Given the description of an element on the screen output the (x, y) to click on. 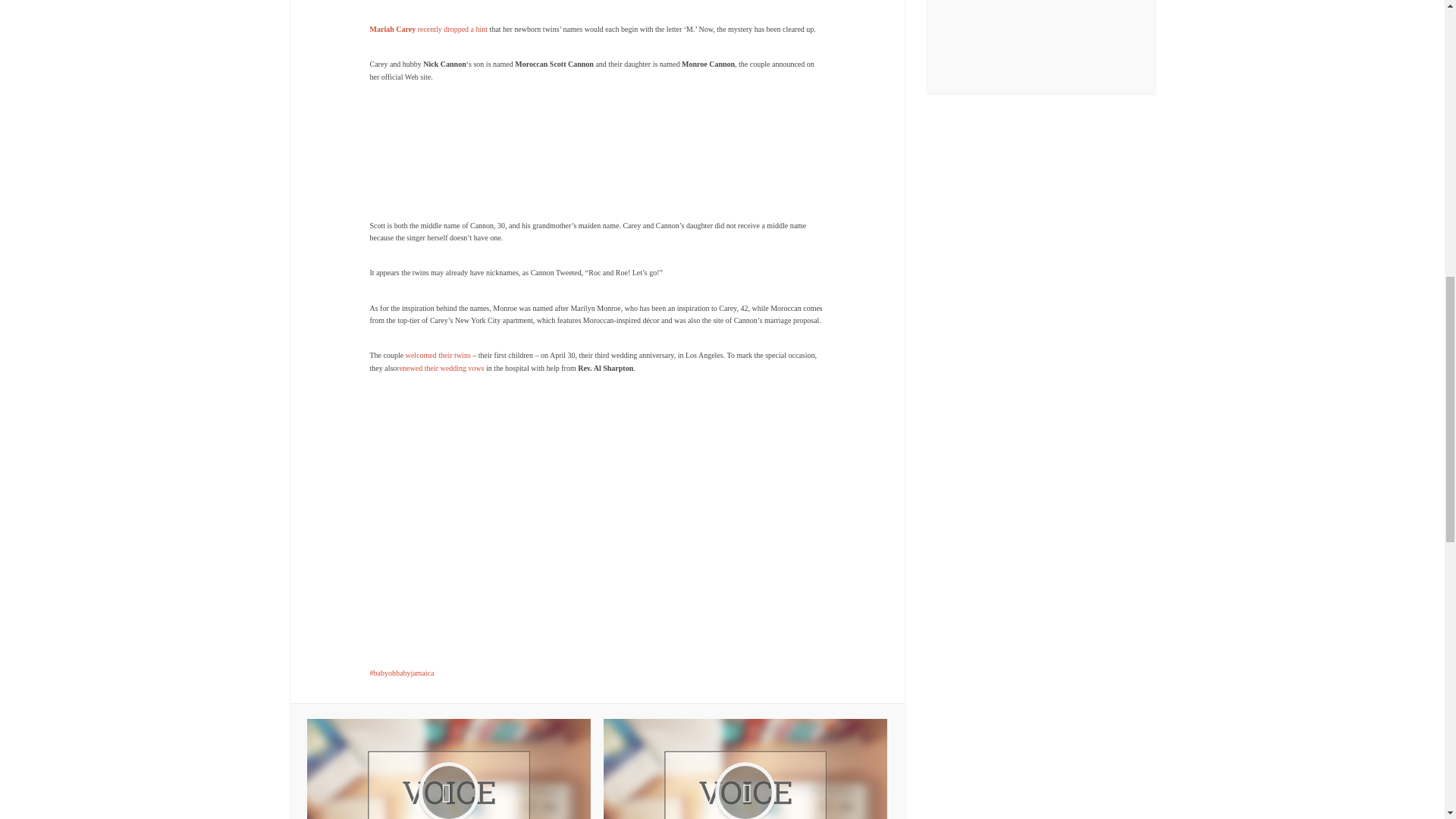
babyohbabyjamaica (401, 673)
Jungle Feva? (449, 769)
recently dropped a hint (452, 29)
Mariah Carey (392, 29)
Bolt on track for another standout season (745, 769)
renewed their wedding vows (439, 367)
welcomed their twins (438, 355)
